Given the description of an element on the screen output the (x, y) to click on. 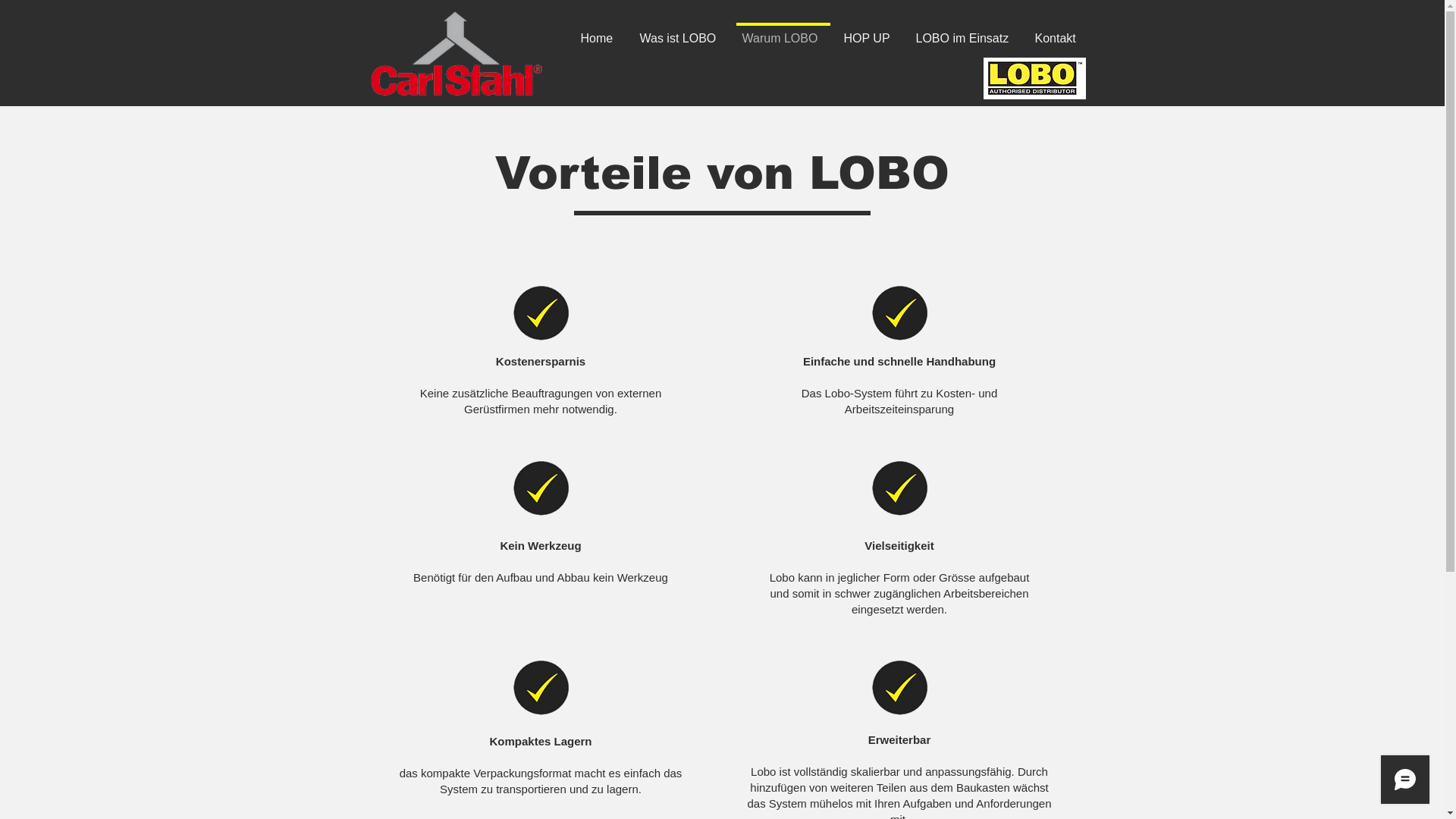
Kontakt Element type: text (1058, 31)
Was ist LOBO Element type: text (680, 31)
HOP UP Element type: text (870, 31)
Home Element type: text (599, 31)
Warum LOBO Element type: text (783, 31)
LOBO im Einsatz Element type: text (964, 31)
